Given the description of an element on the screen output the (x, y) to click on. 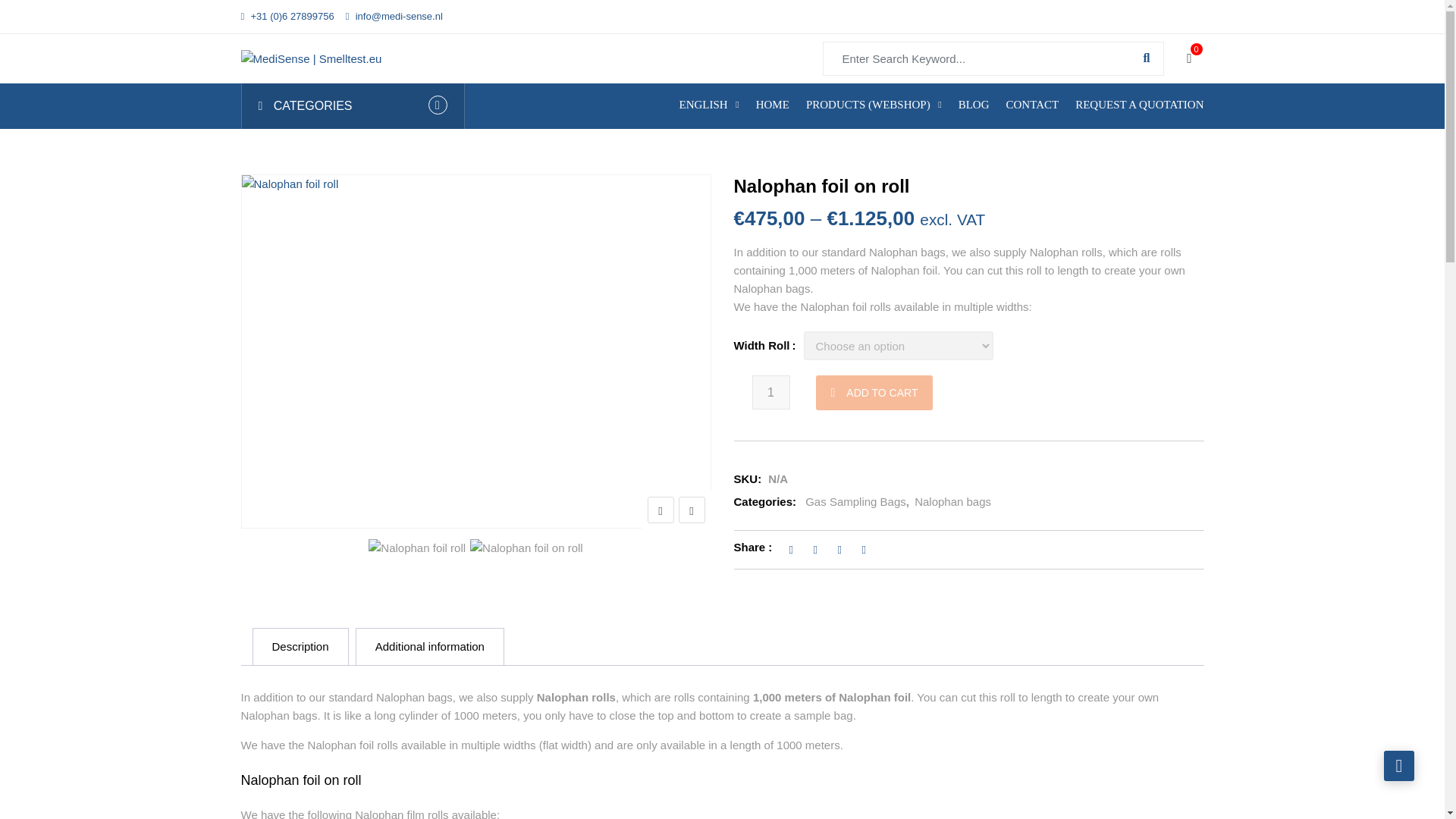
Nalophan foil roll (416, 547)
Nalophan foil on roll (526, 547)
1 (771, 392)
